Given the description of an element on the screen output the (x, y) to click on. 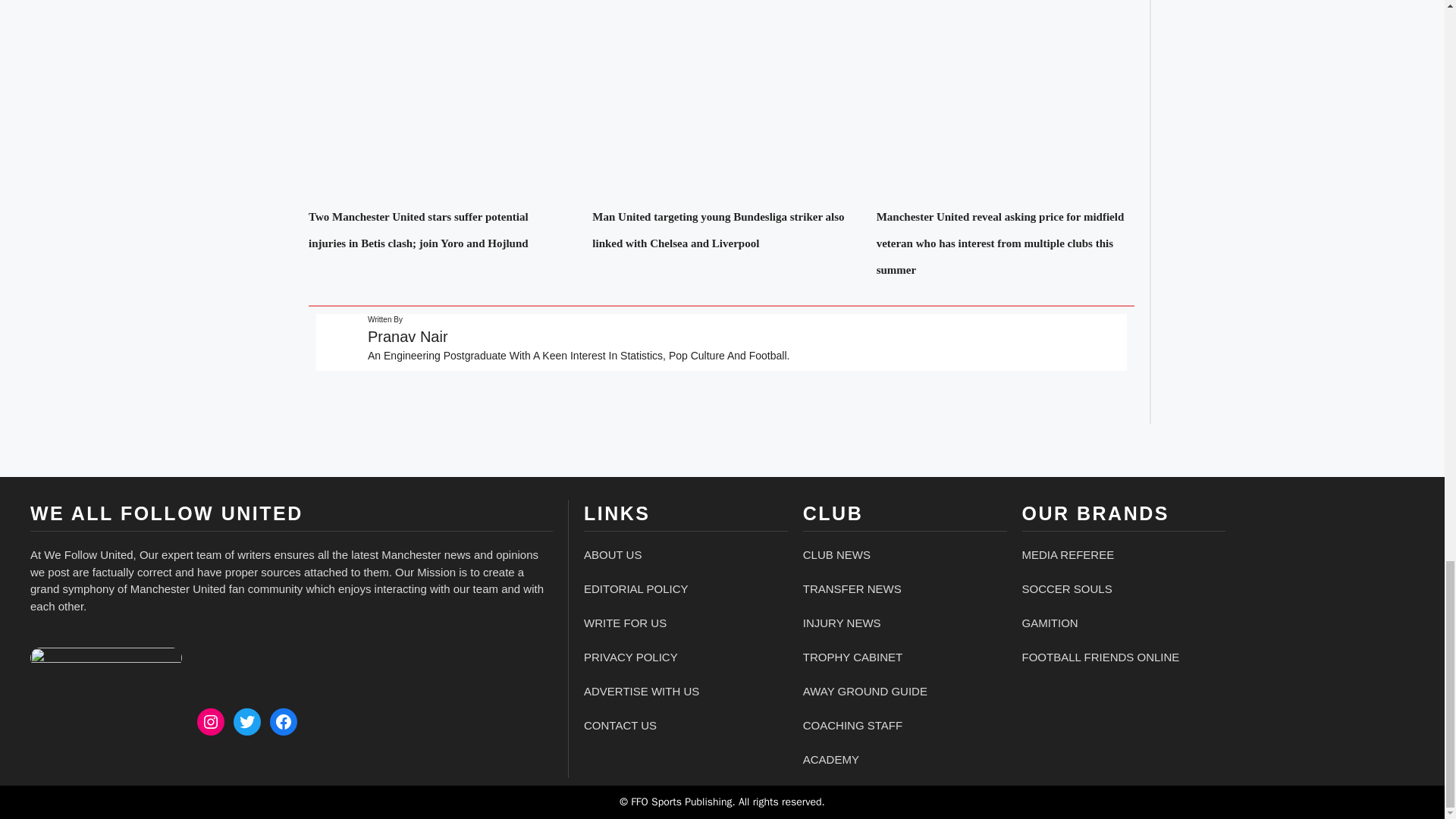
photo1715849582-1 (106, 658)
